Given the description of an element on the screen output the (x, y) to click on. 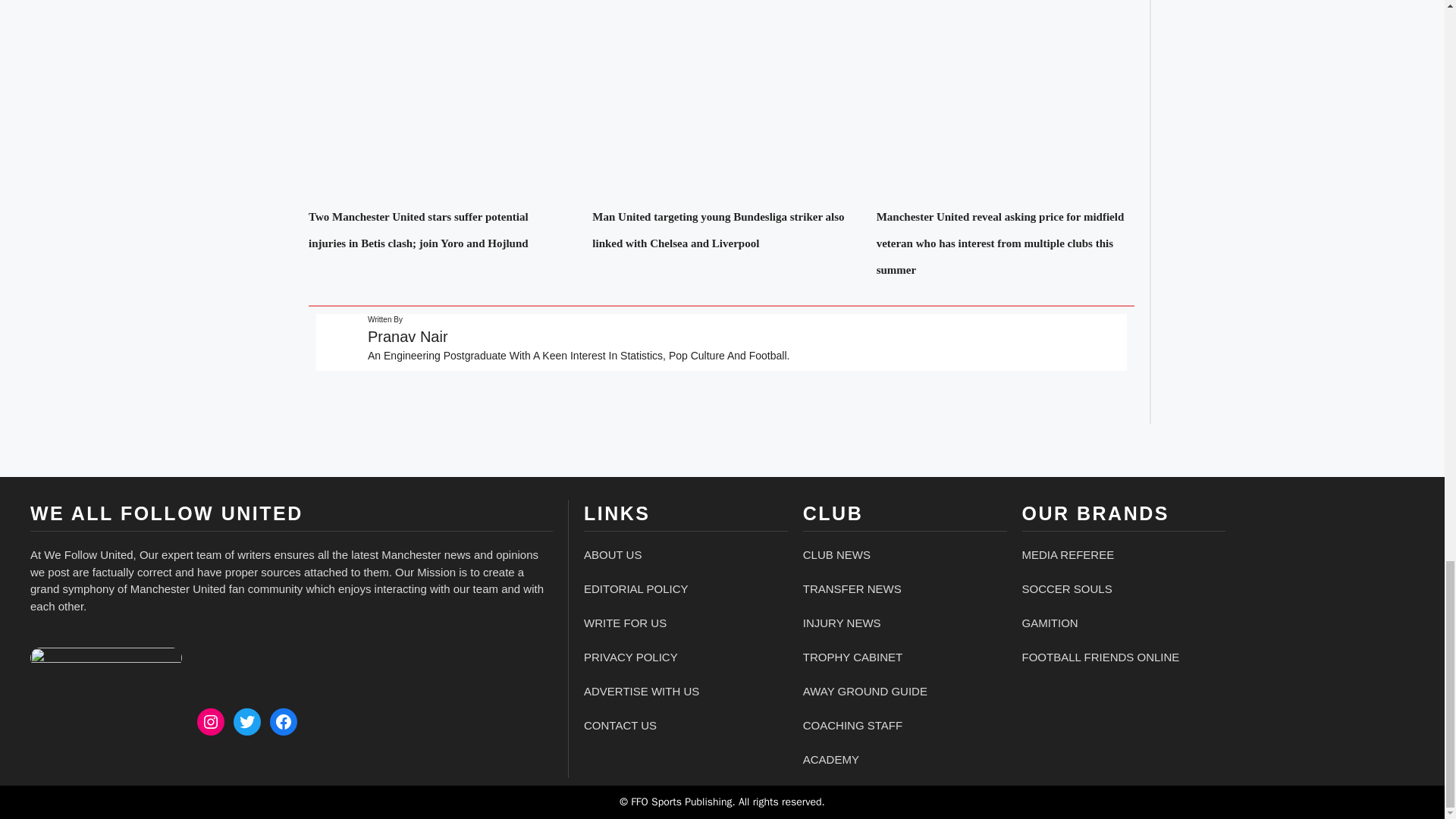
photo1715849582-1 (106, 658)
